Given the description of an element on the screen output the (x, y) to click on. 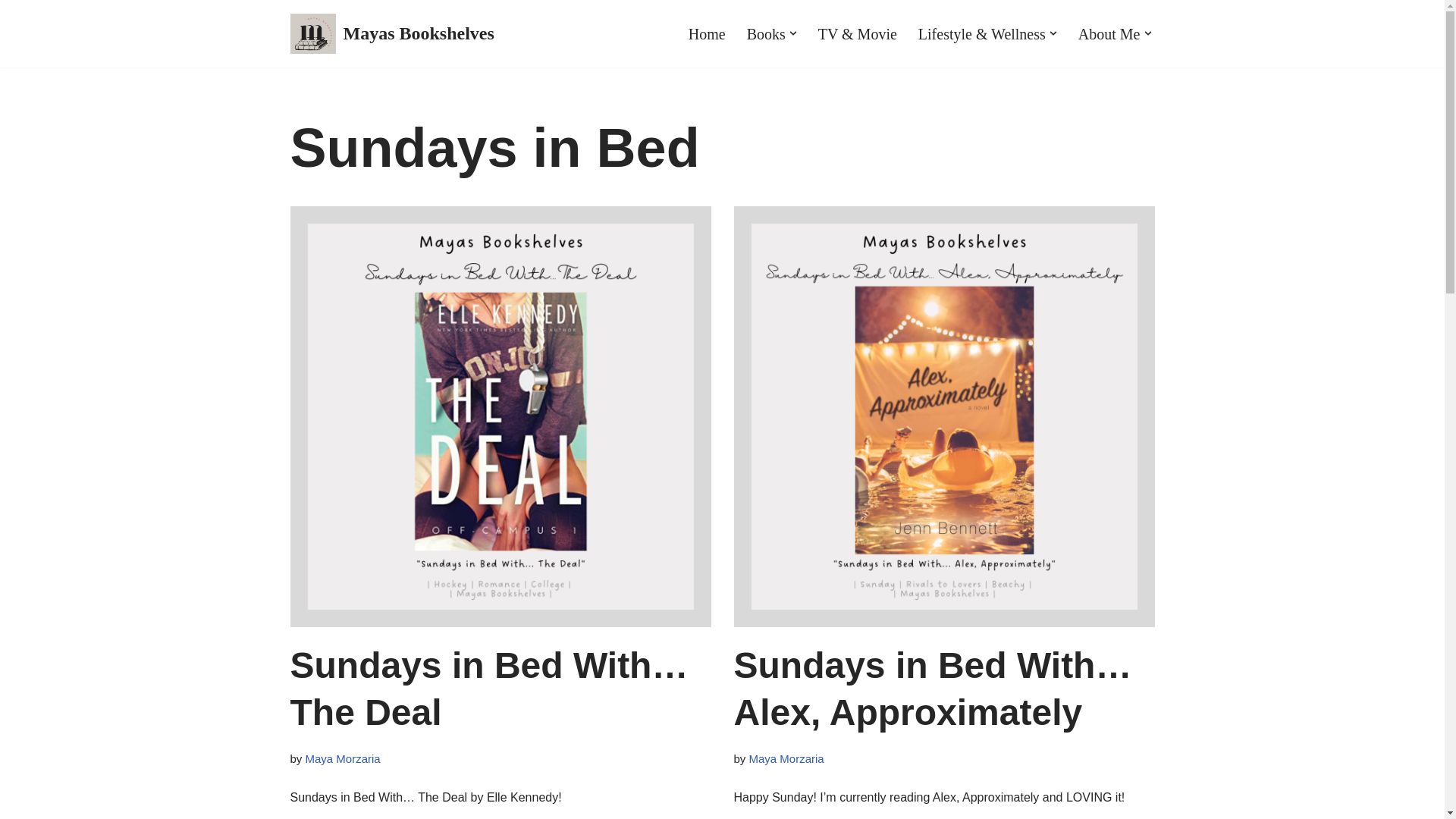
Maya Morzaria (342, 758)
Maya Morzaria (786, 758)
About Me (1109, 33)
Posts by Maya Morzaria (342, 758)
Mayas Bookshelves (391, 33)
Home (706, 33)
Skip to content (11, 31)
Posts by Maya Morzaria (786, 758)
Books (766, 33)
